Given the description of an element on the screen output the (x, y) to click on. 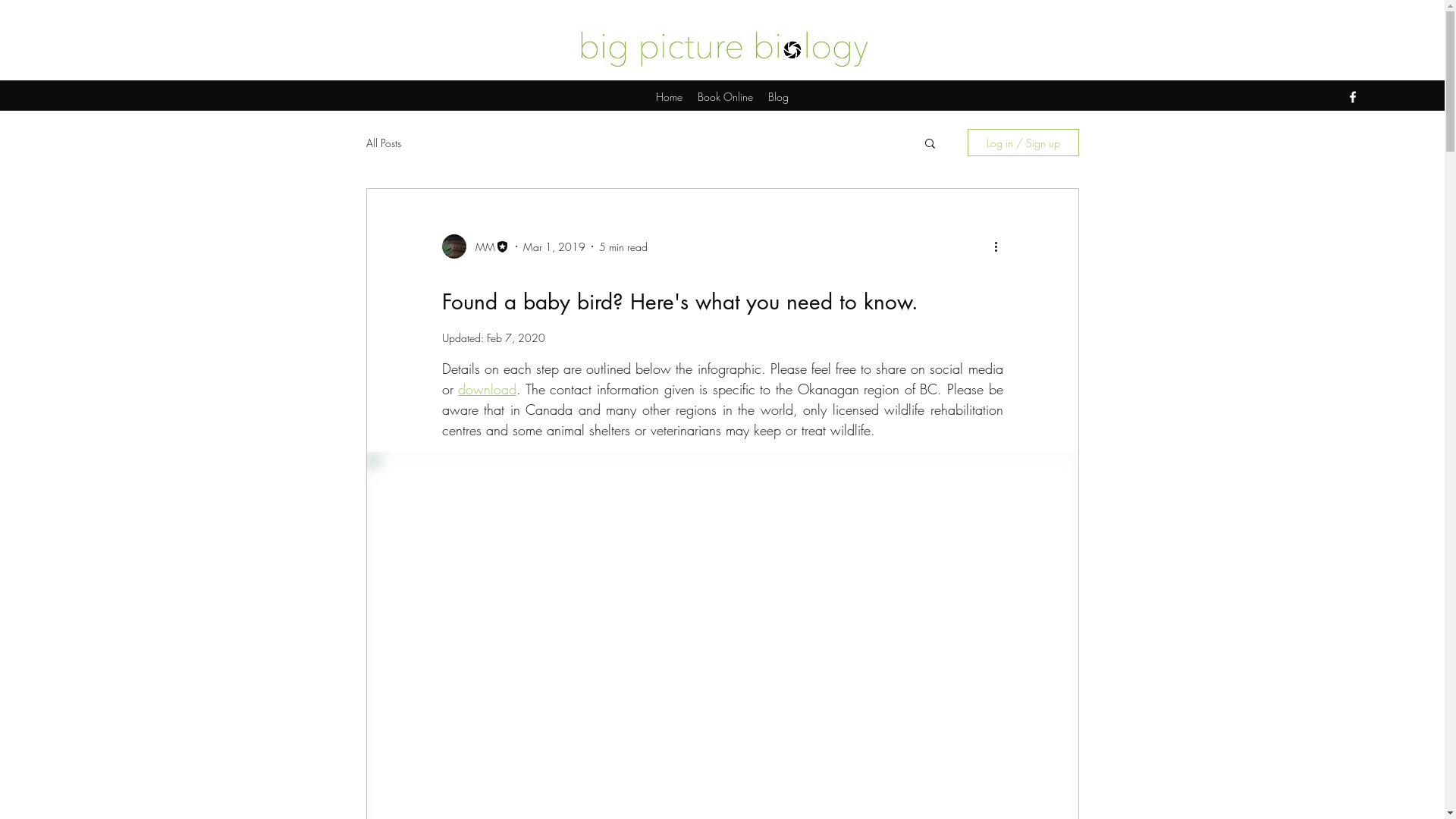
Book Online Element type: text (725, 96)
All Posts Element type: text (382, 141)
download Element type: text (487, 388)
Log in / Sign up Element type: text (1023, 142)
Blog Element type: text (778, 96)
Home Element type: text (669, 96)
